Given the description of an element on the screen output the (x, y) to click on. 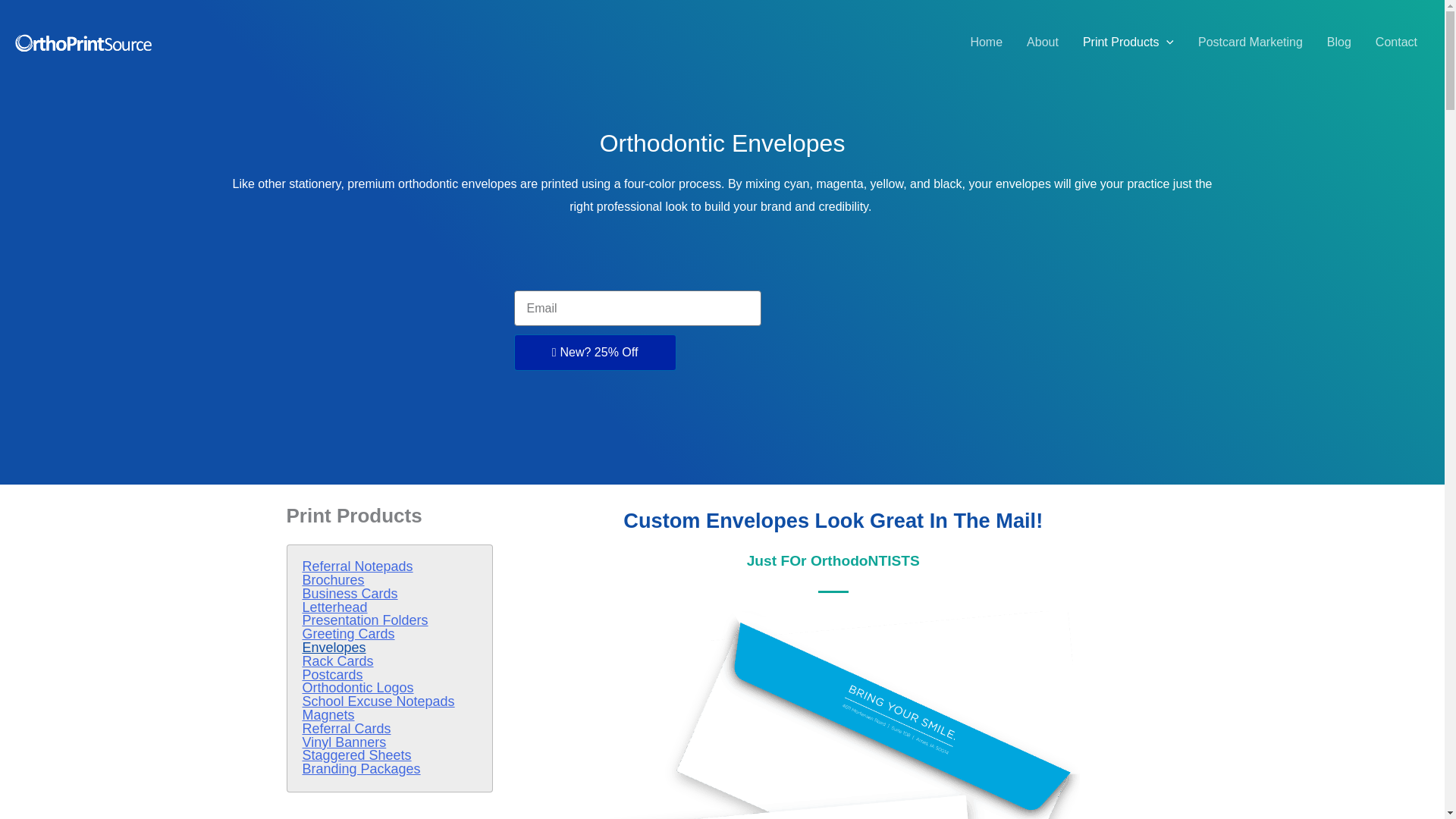
Print Products (1128, 42)
Postcard Marketing (1250, 42)
About (1042, 42)
Contact (1395, 42)
Home (986, 42)
